Given the description of an element on the screen output the (x, y) to click on. 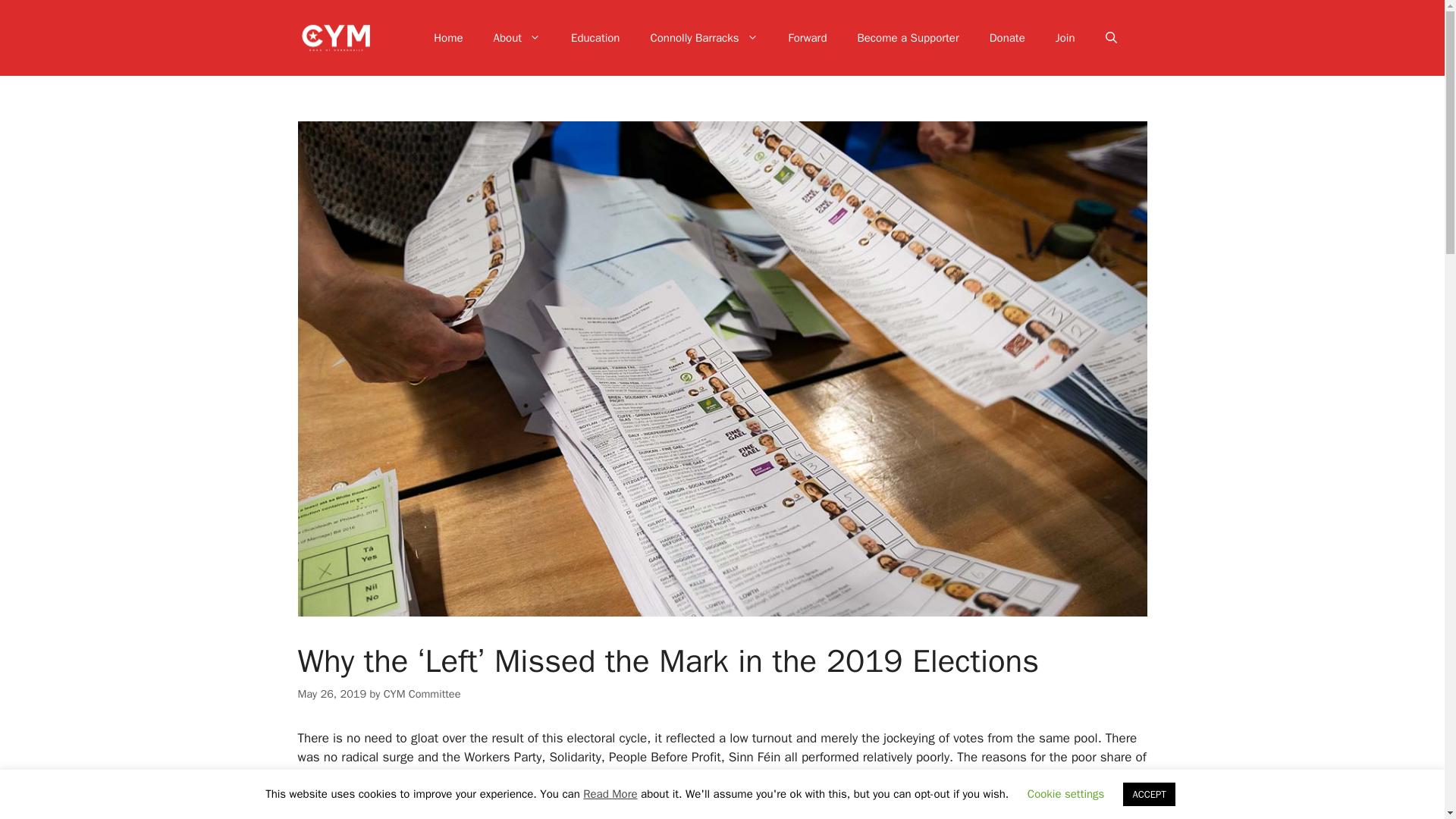
Connolly Barracks (703, 37)
CYM Committee (422, 694)
Cookie settings (1066, 793)
Read More (610, 793)
Become a Supporter (907, 37)
About (517, 37)
Home (448, 37)
Donate (1007, 37)
Join (1065, 37)
View all posts by CYM Committee (422, 694)
Forward (808, 37)
ACCEPT (1148, 793)
Education (595, 37)
